Given the description of an element on the screen output the (x, y) to click on. 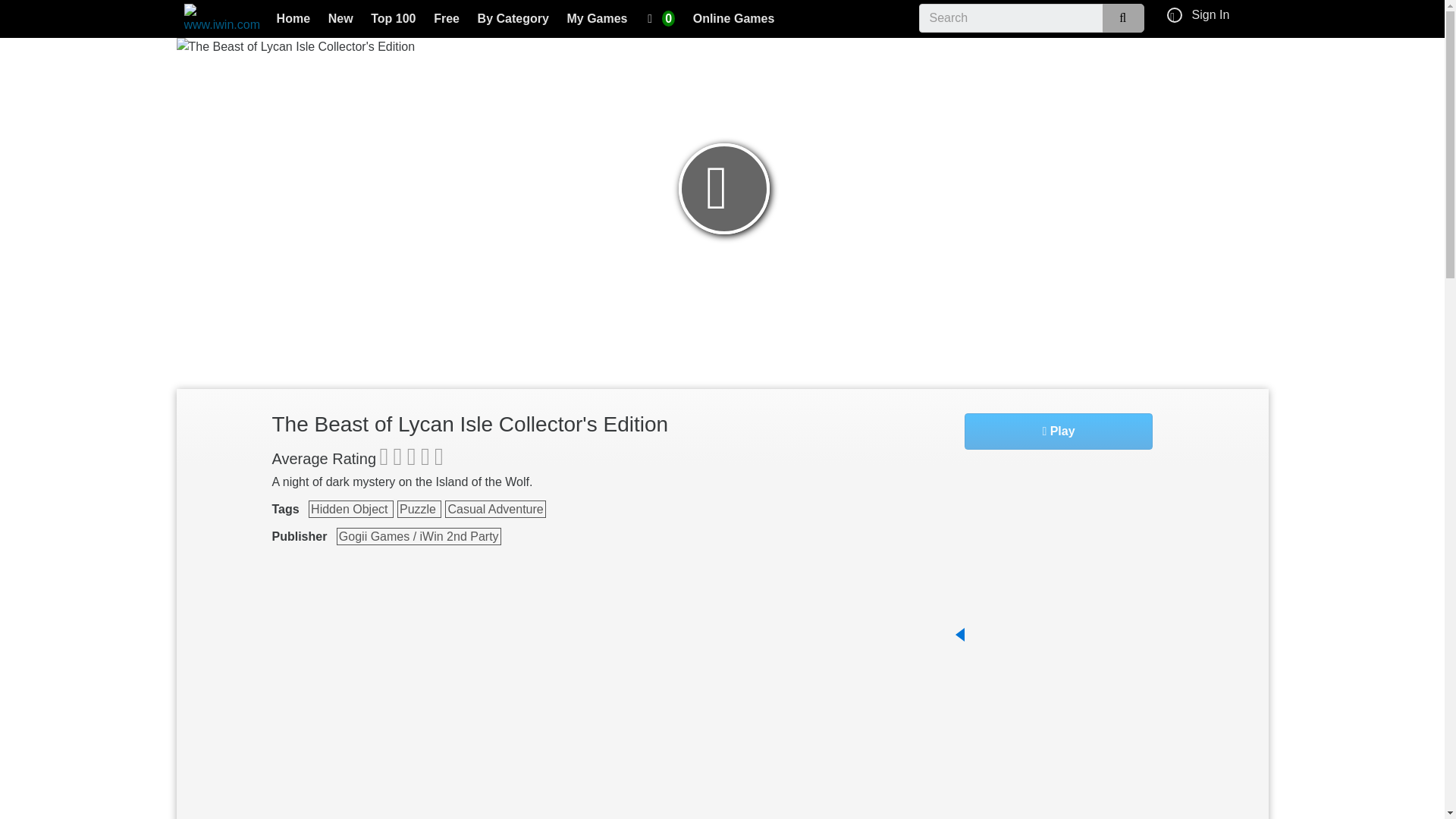
Online Games (733, 20)
See Casual Adventure Games (494, 508)
Free (446, 20)
My Games (596, 20)
Top 100 (393, 20)
Play (1058, 431)
See Puzzle Games (419, 508)
See Hidden Object Games (350, 508)
By Category (513, 20)
